Given the description of an element on the screen output the (x, y) to click on. 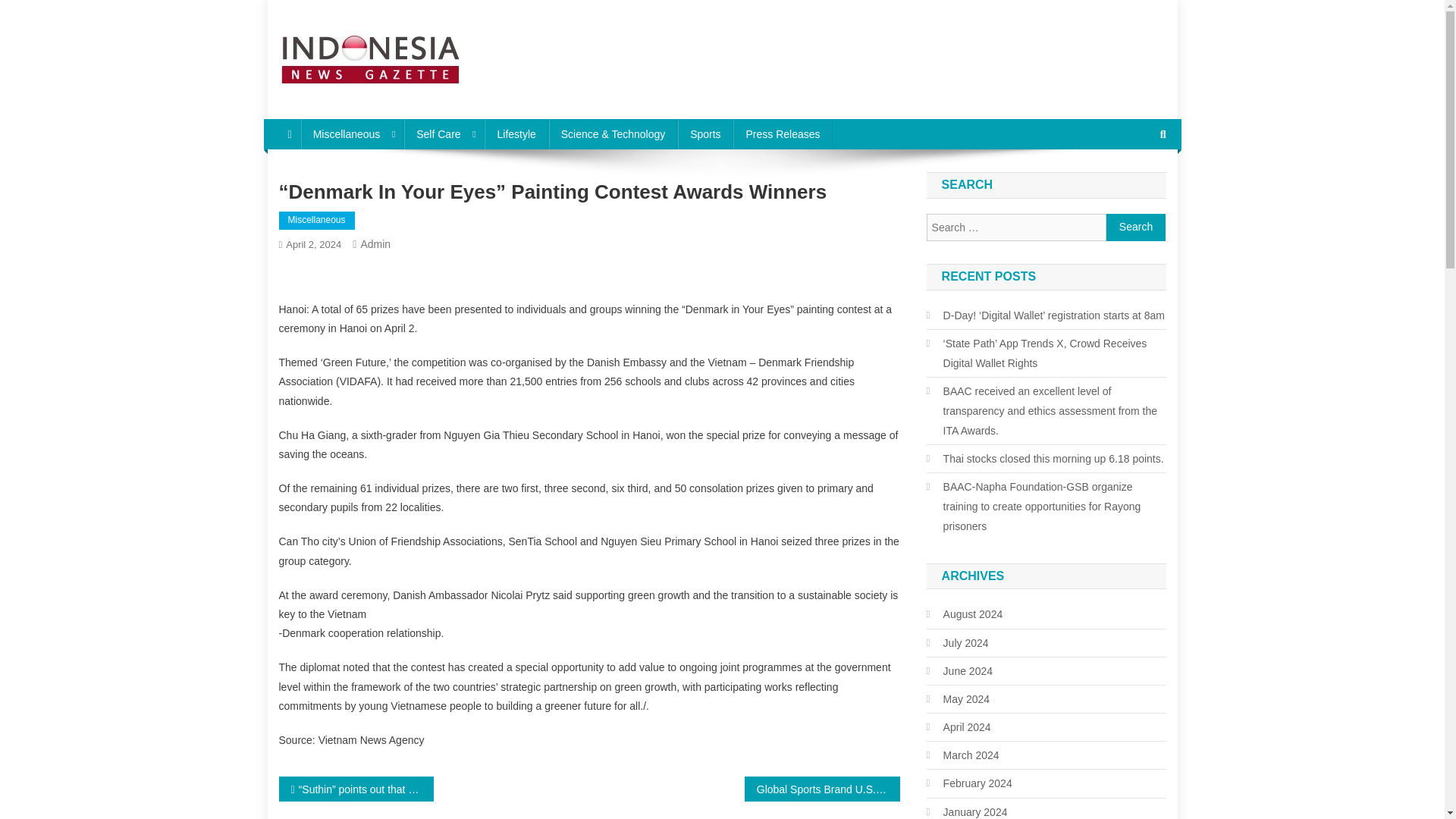
Search (1136, 226)
Sports (705, 133)
Search (1136, 226)
Self Care (443, 133)
Lifestyle (515, 133)
Thai stocks closed this morning up 6.18 points. (1044, 458)
Search (1133, 185)
Miscellaneous (352, 133)
Miscellaneous (317, 220)
Admin (374, 244)
Press Releases (782, 133)
April 2, 2024 (312, 244)
Search (1136, 226)
